Given the description of an element on the screen output the (x, y) to click on. 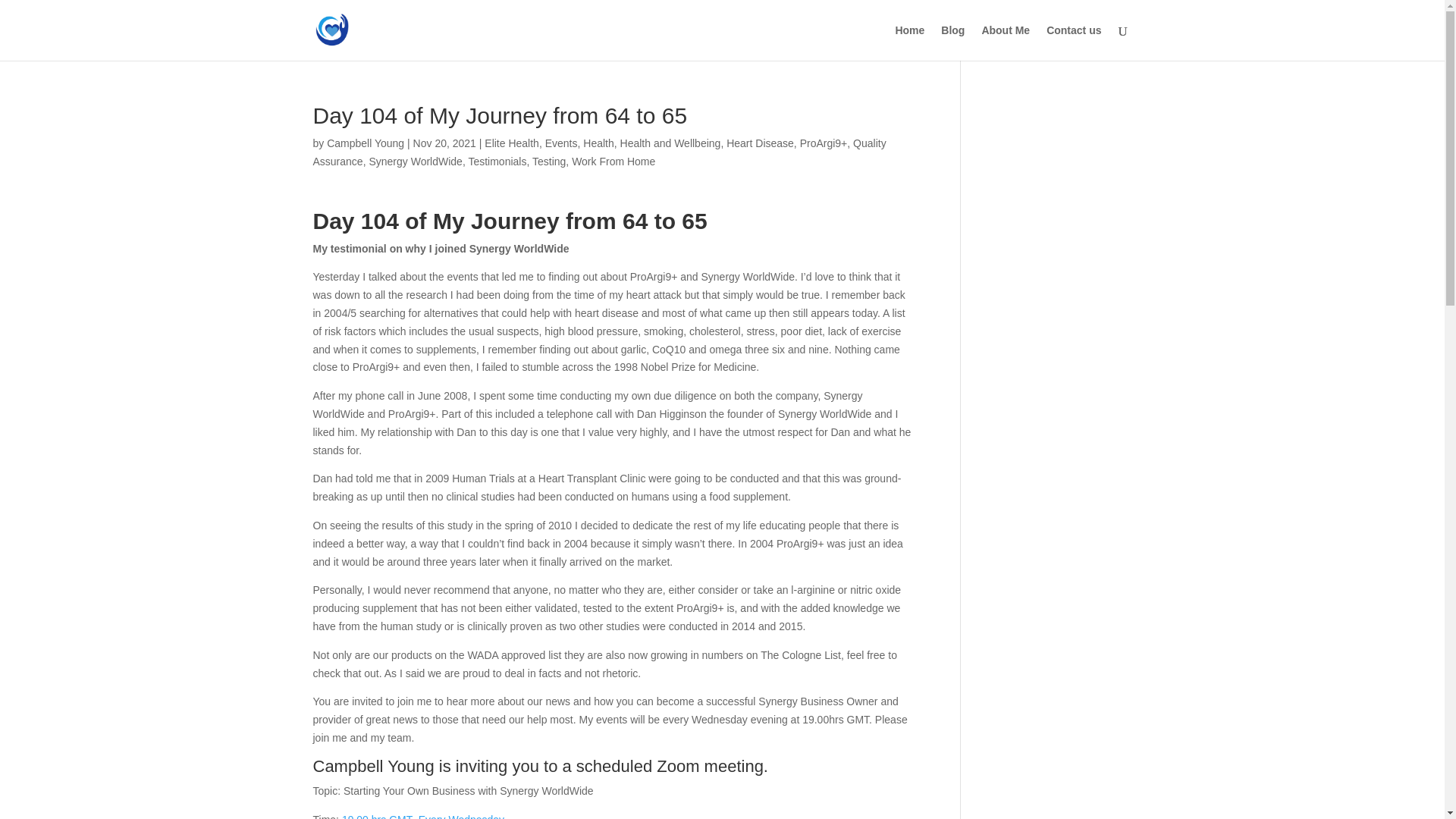
19.00 hrs GMT  Every Wednesday. (424, 816)
Testimonials (496, 161)
Quality Assurance (599, 152)
Campbell Young (365, 143)
Work From Home (613, 161)
Events (561, 143)
Posts by Campbell Young (365, 143)
Synergy WorldWide (414, 161)
Elite Health (511, 143)
Contact us (1073, 42)
